Given the description of an element on the screen output the (x, y) to click on. 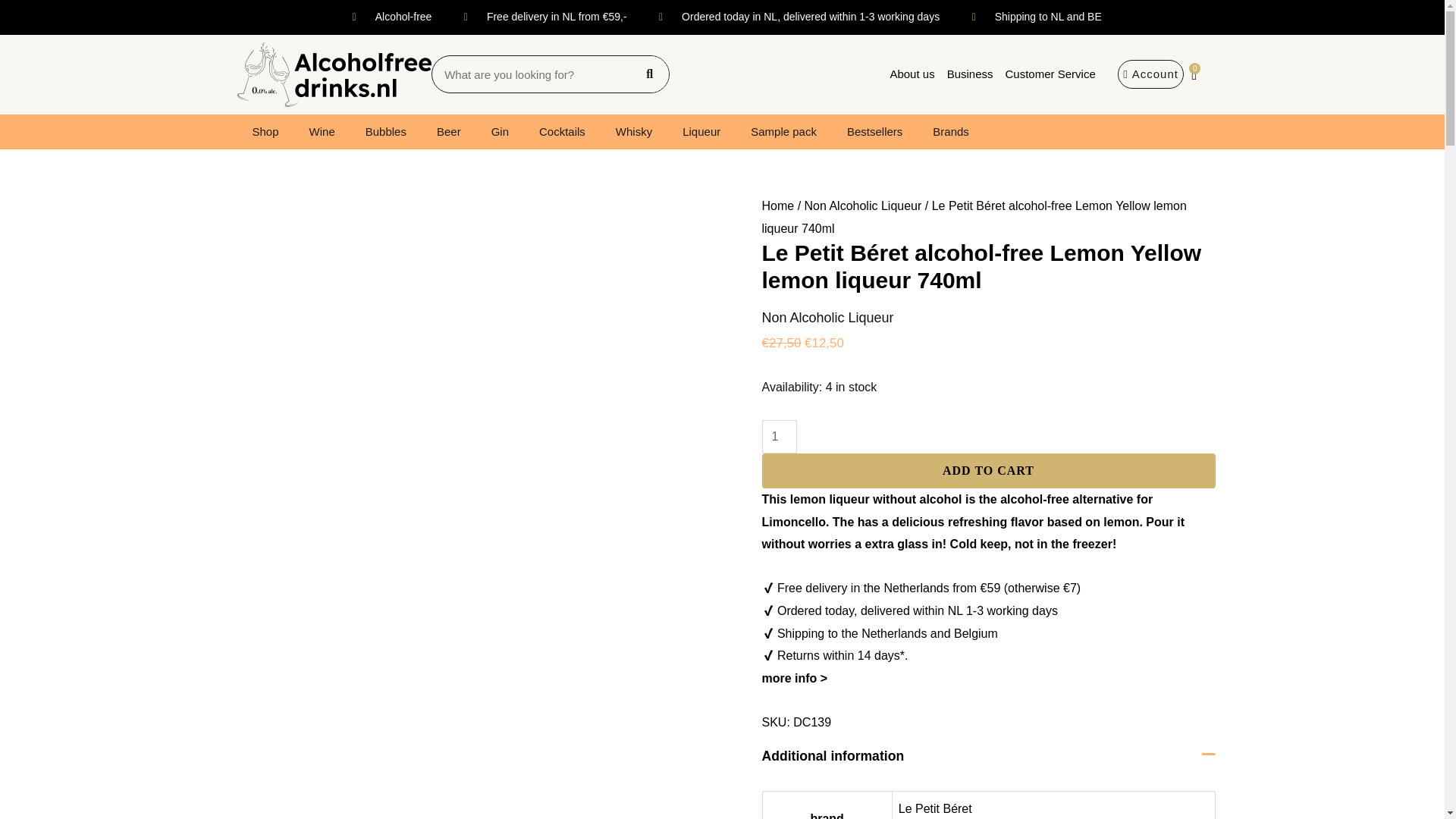
Wine (322, 131)
Beer (449, 131)
1 (778, 436)
Whisky (632, 131)
Cocktails (561, 131)
0 (1193, 73)
Customer Service (1050, 73)
Shop (264, 131)
About us (911, 73)
SEARCH (649, 74)
Bubbles (386, 131)
Business (969, 73)
Account (1150, 73)
Gin (500, 131)
